Given the description of an element on the screen output the (x, y) to click on. 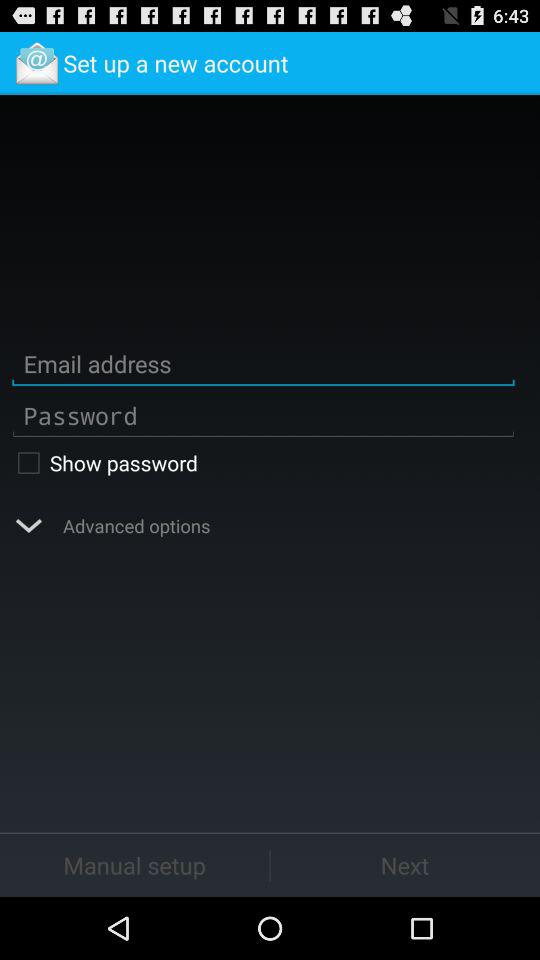
select manual setup item (134, 864)
